Given the description of an element on the screen output the (x, y) to click on. 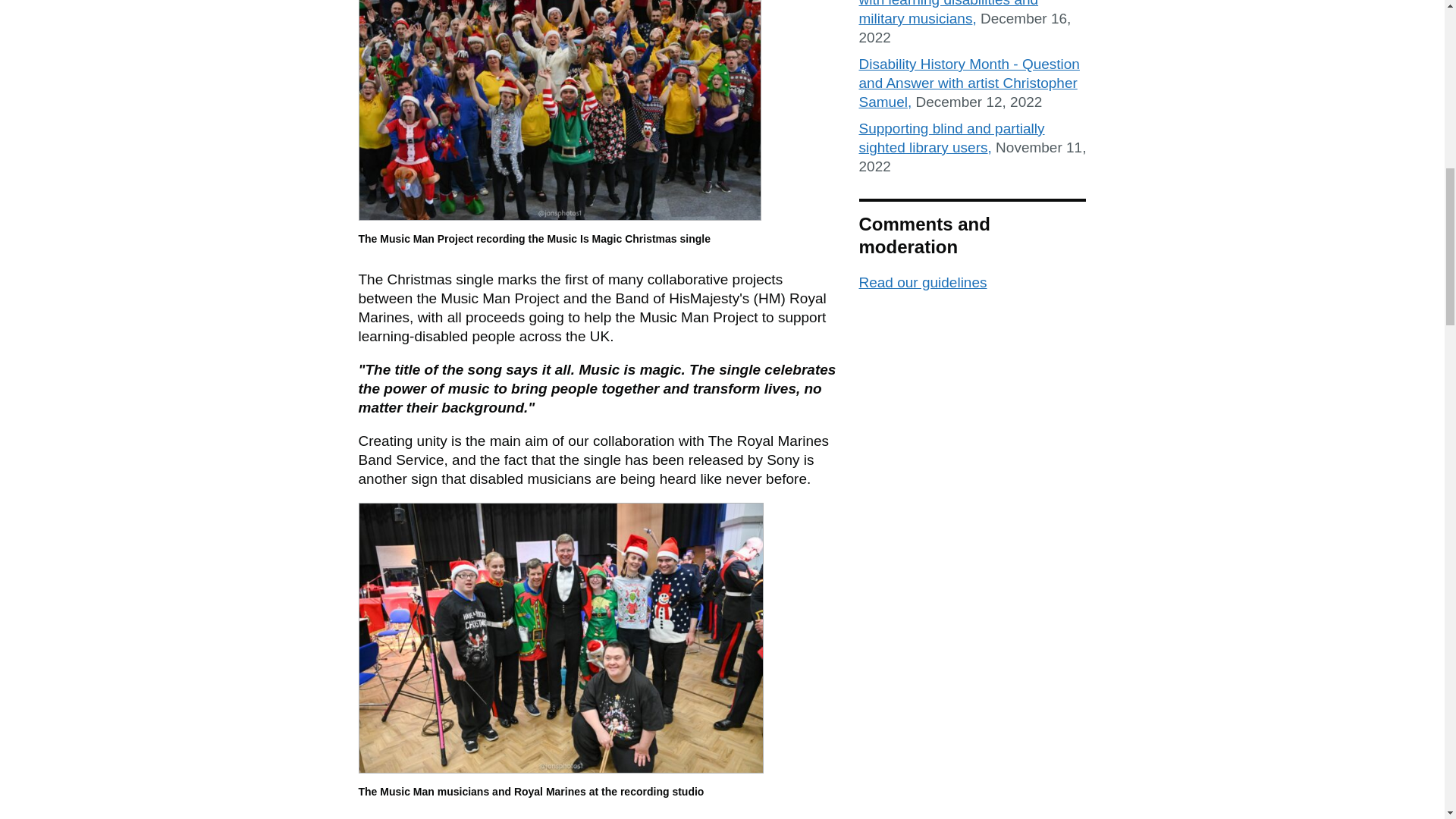
Supporting blind and partially sighted library users (951, 137)
Read our guidelines (923, 282)
